Given the description of an element on the screen output the (x, y) to click on. 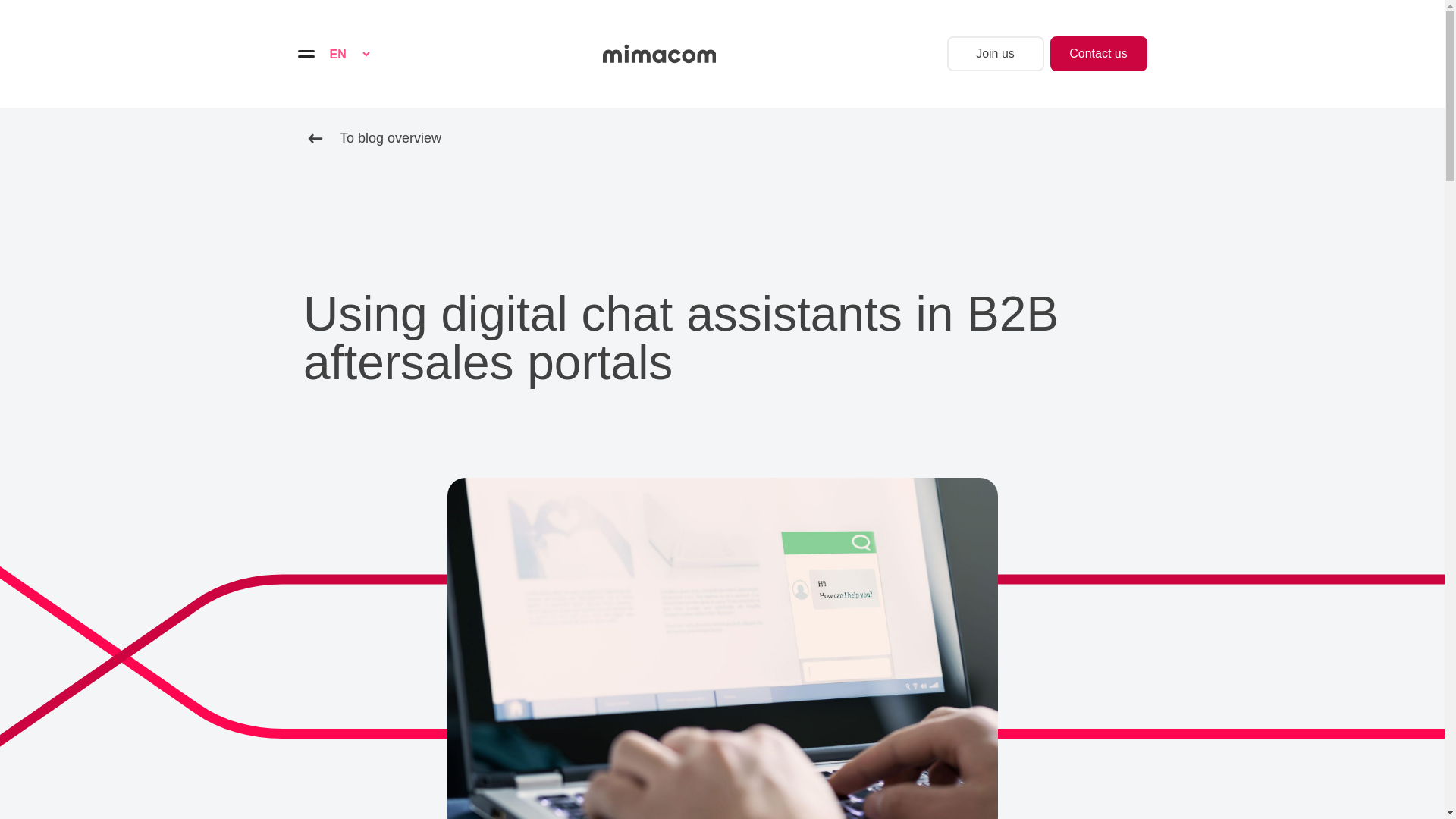
To blog overview (371, 137)
Go to homepage (659, 53)
Join us (994, 53)
Toggle Navigation (305, 53)
Contact us (1098, 53)
